Given the description of an element on the screen output the (x, y) to click on. 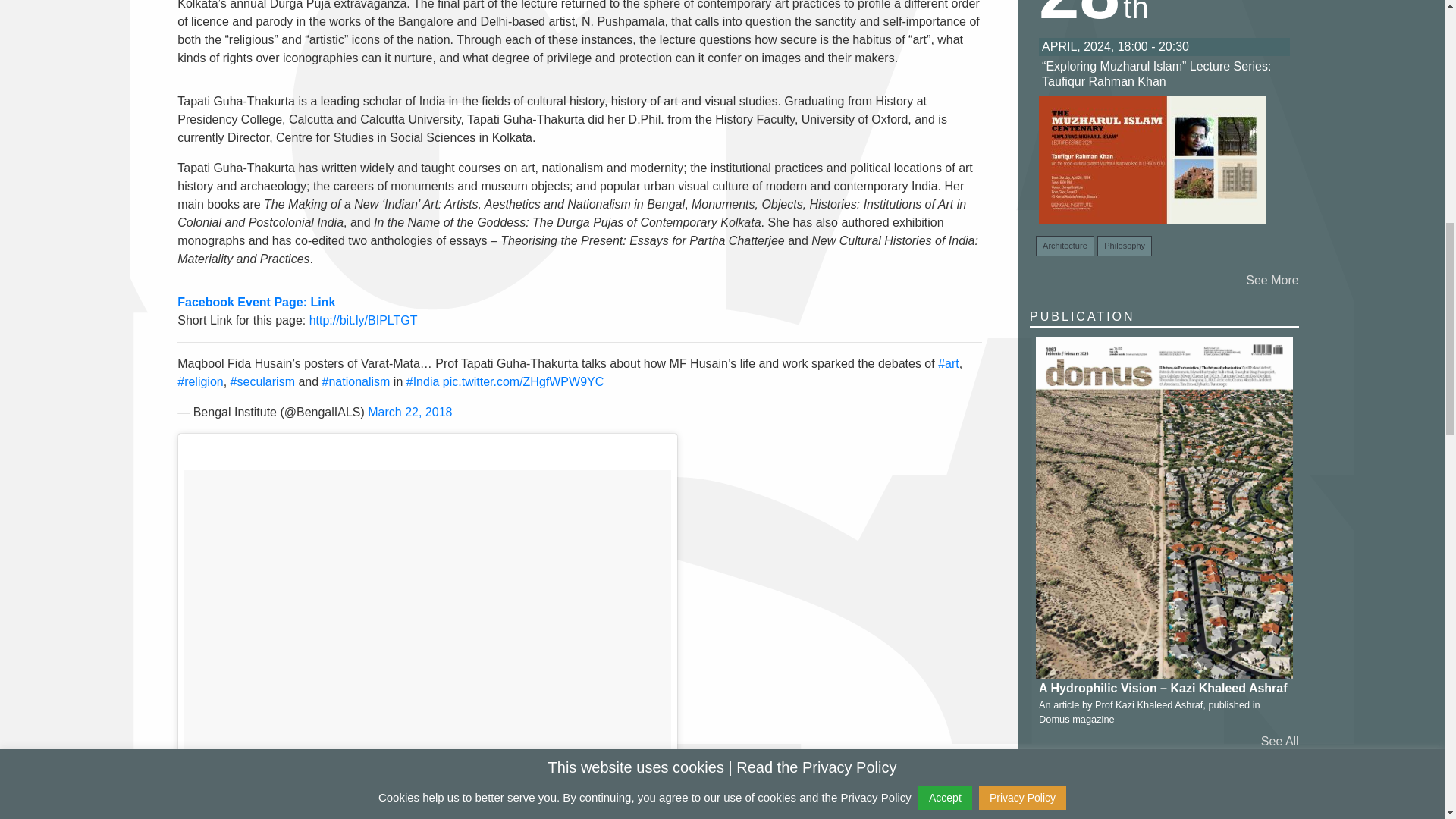
See All (1279, 741)
Facebook Event Page: Link (255, 301)
Architecture (1064, 245)
March 22, 2018 (409, 411)
Philosophy (1124, 245)
See More (1272, 280)
